Given the description of an element on the screen output the (x, y) to click on. 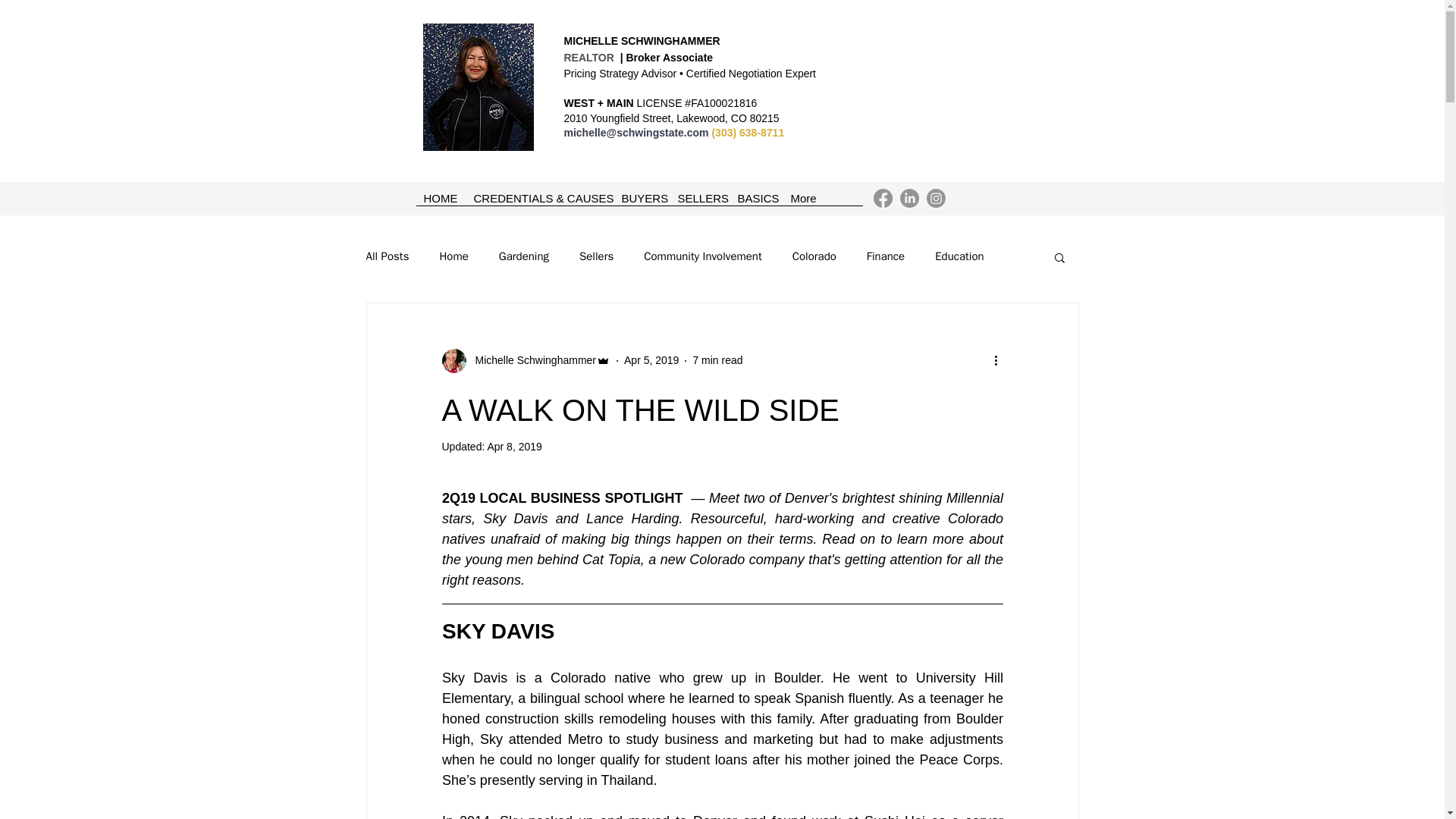
BUYERS (641, 202)
Apr 8, 2019 (513, 446)
Apr 5, 2019 (651, 359)
7 min read (717, 359)
Michelle Schwinghammer (530, 360)
HOME (439, 202)
SELLERS (699, 202)
BASICS (756, 202)
MICHELLE SCHWINGHAMMER (642, 40)
